Given the description of an element on the screen output the (x, y) to click on. 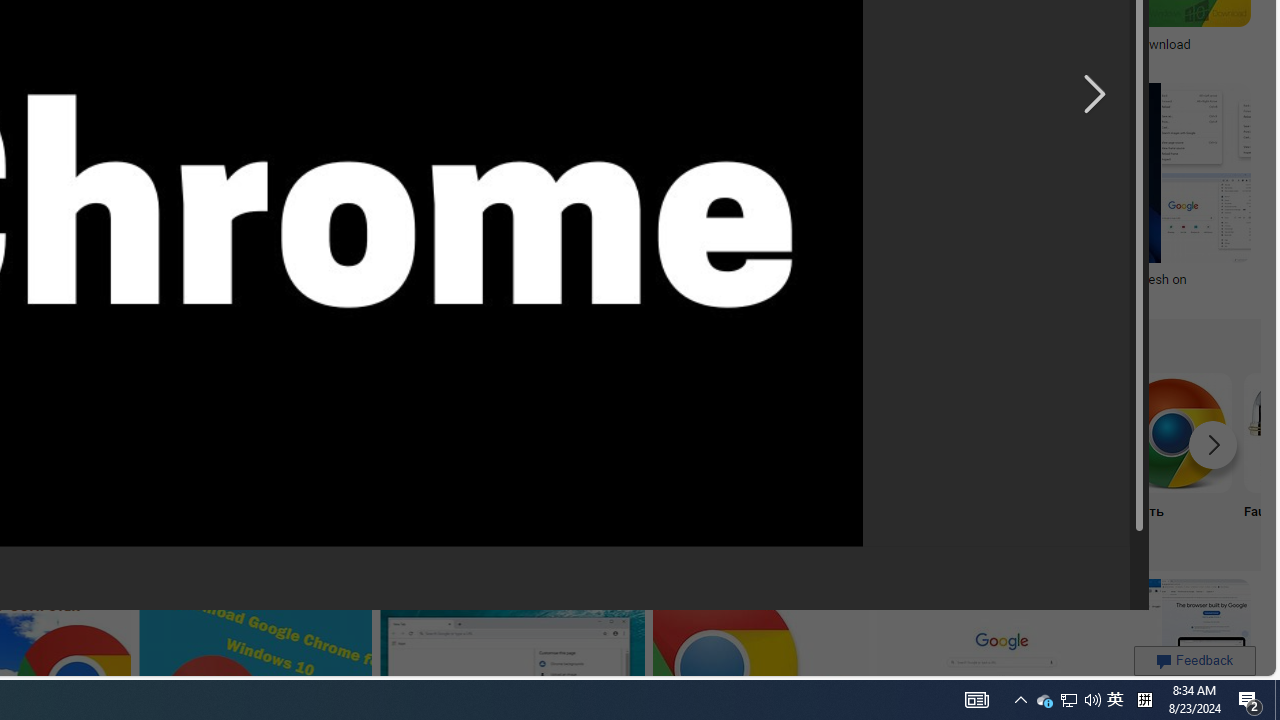
Google Chrome - Windows 10 Download (1100, 44)
How To Download And Install Google Chrome On Windows (457, 44)
Chrome Search Bar (248, 432)
Use Google (907, 457)
Internet-Browser Download (643, 457)
How to download Chrome on Windows 10 (724, 279)
How To Download And Install Google Chrome On Windows (457, 44)
Free Download (775, 457)
Image result for Chrome Windows (1206, 623)
Chrome Computer (1039, 457)
Chrome Internet Browser Download (643, 432)
